Given the description of an element on the screen output the (x, y) to click on. 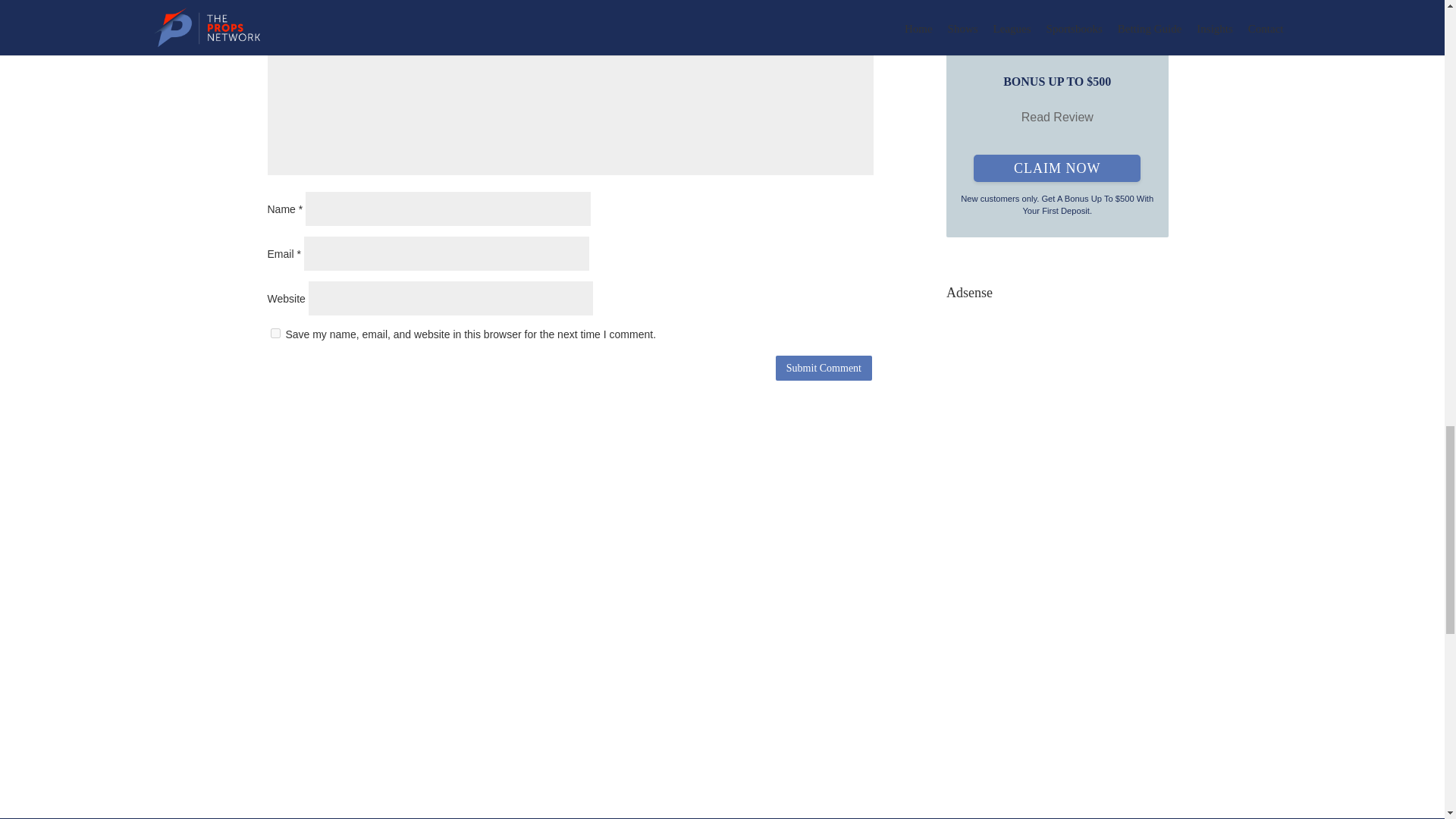
yes (274, 333)
Submit Comment (823, 367)
